Given the description of an element on the screen output the (x, y) to click on. 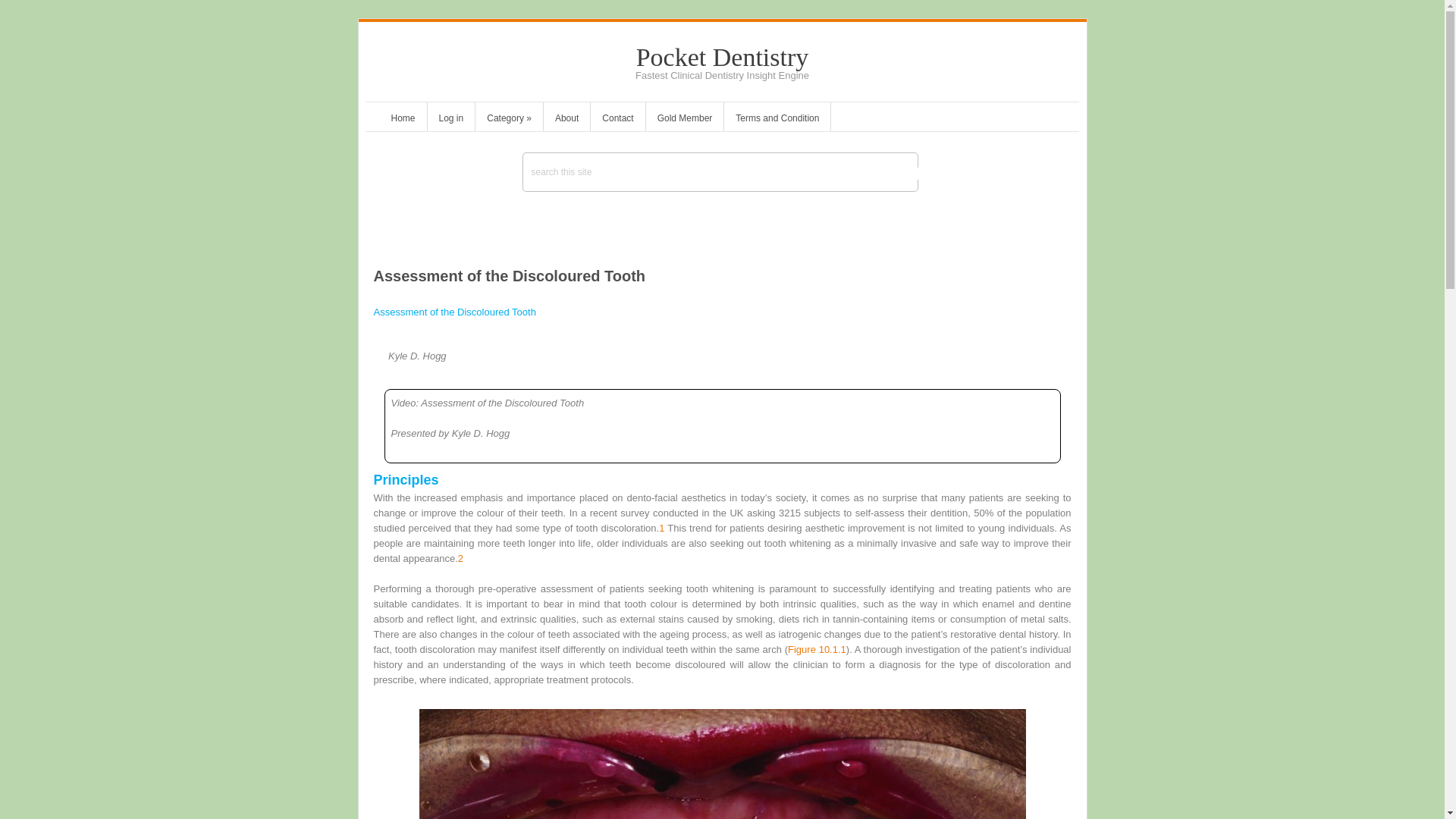
Gold Member (684, 119)
Pocket Dentistry (722, 57)
About (566, 119)
Pocket Dentistry (722, 57)
Contact (618, 119)
Terms and Condition (776, 119)
Log in (452, 119)
Home (402, 119)
